Given the description of an element on the screen output the (x, y) to click on. 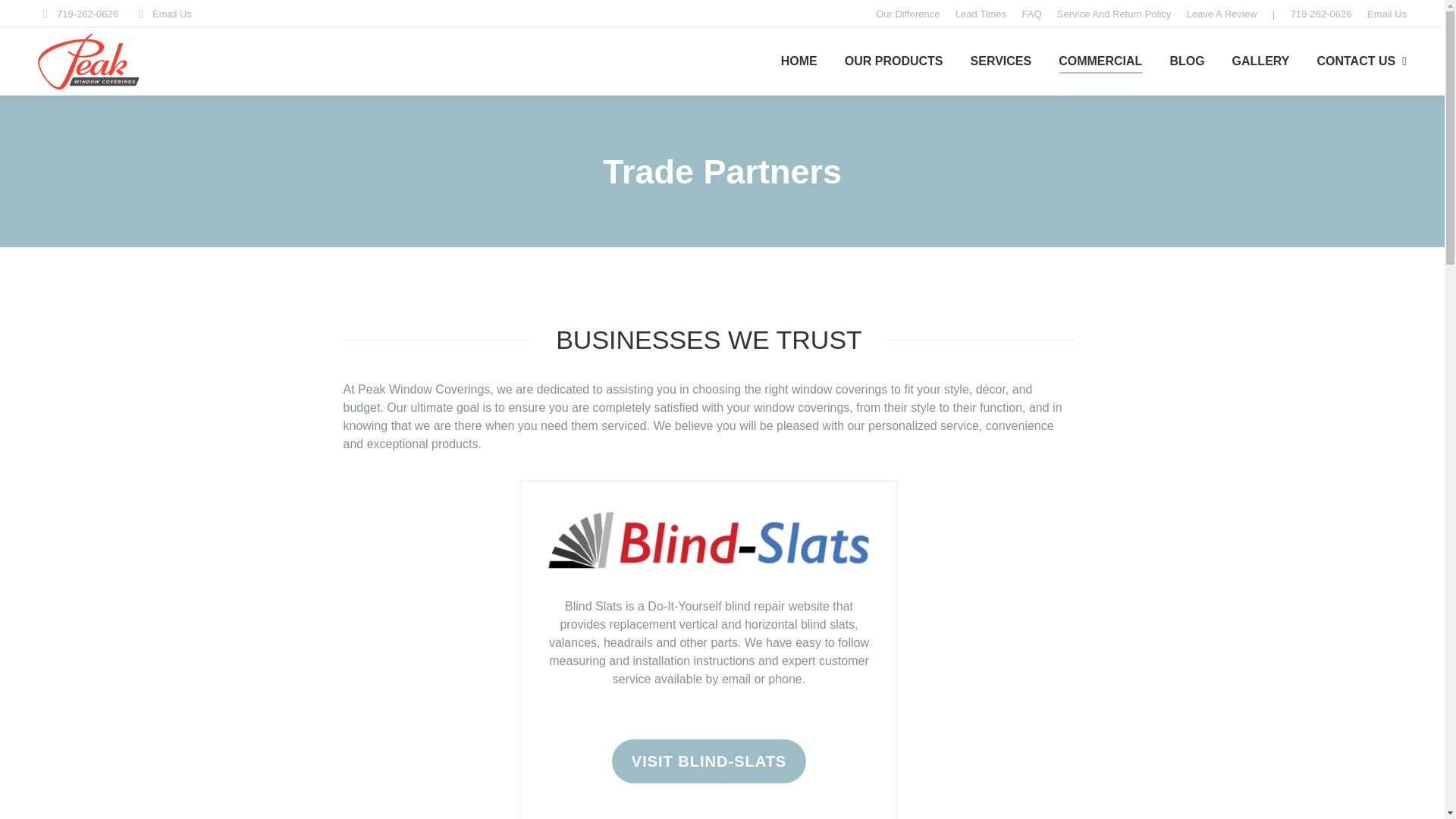
OUR PRODUCTS (893, 60)
Leave A Review (1221, 12)
HOME (799, 60)
FAQ (1032, 12)
BLOG (1186, 60)
Email Us (162, 12)
COMMERCIAL (1099, 60)
SERVICES (1001, 60)
Email Us (1386, 12)
719-262-0626 (77, 12)
